Given the description of an element on the screen output the (x, y) to click on. 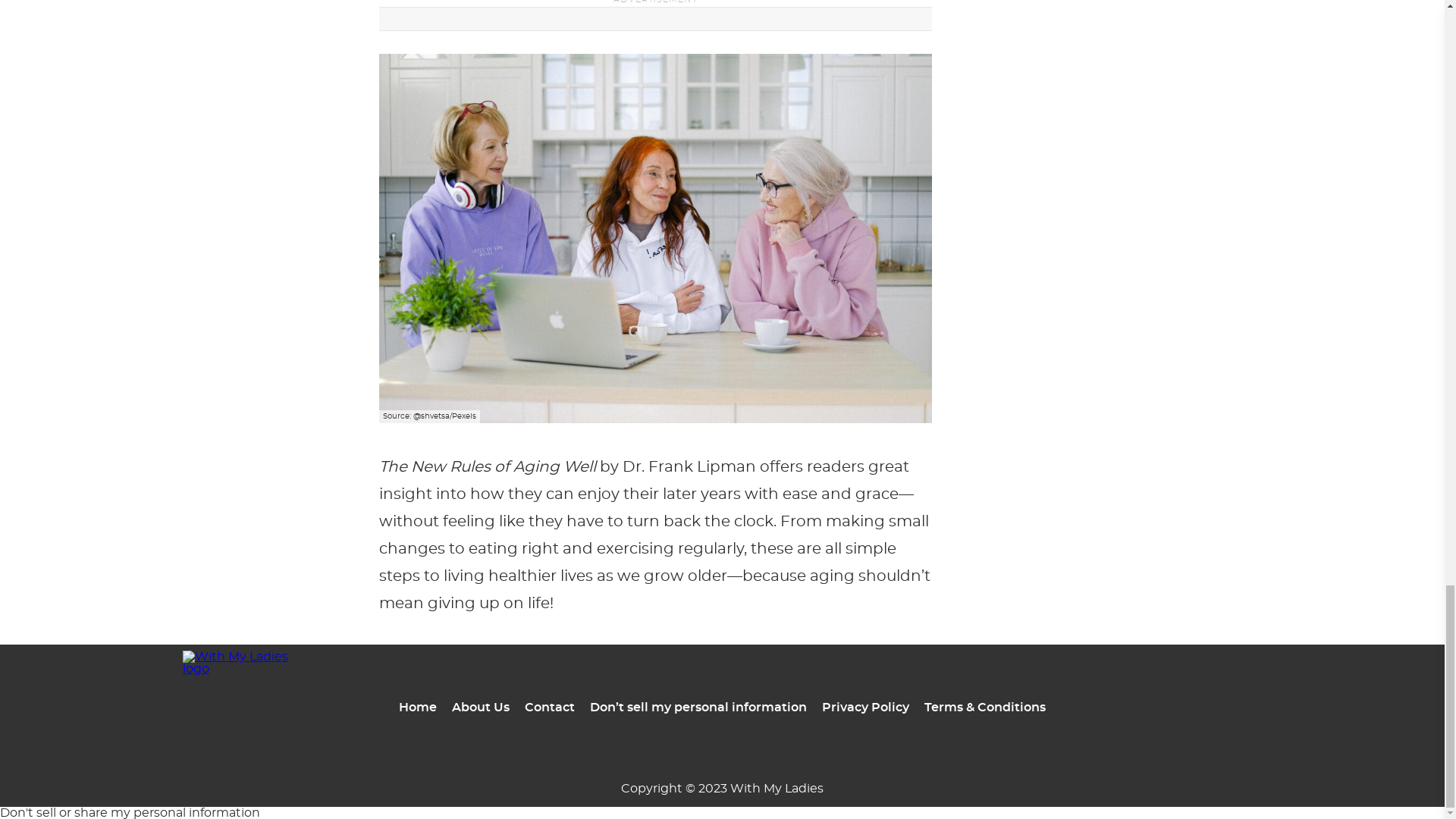
Contact (549, 707)
About Us (480, 707)
Home (417, 707)
Privacy Policy (865, 707)
